Given the description of an element on the screen output the (x, y) to click on. 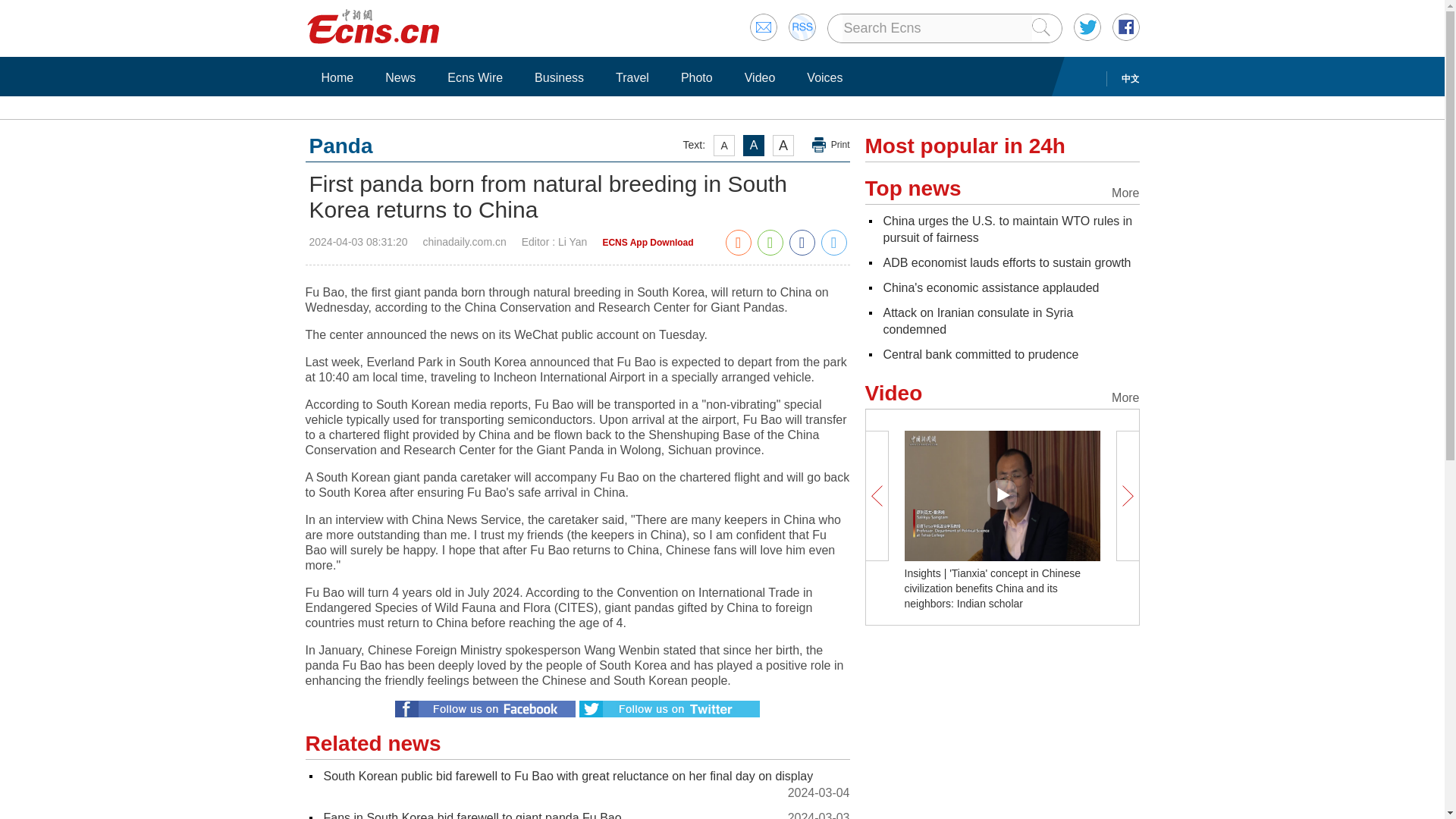
News (400, 77)
Fans in South Korea bid farewell to giant panda Fu Bao (472, 815)
Search Ecns (935, 27)
Photo (696, 77)
Video (760, 77)
ECNS App Download (647, 242)
Print (831, 144)
Ecns Wire (475, 77)
Voices (823, 77)
Travel (632, 77)
Home (337, 77)
Business (558, 77)
